Given the description of an element on the screen output the (x, y) to click on. 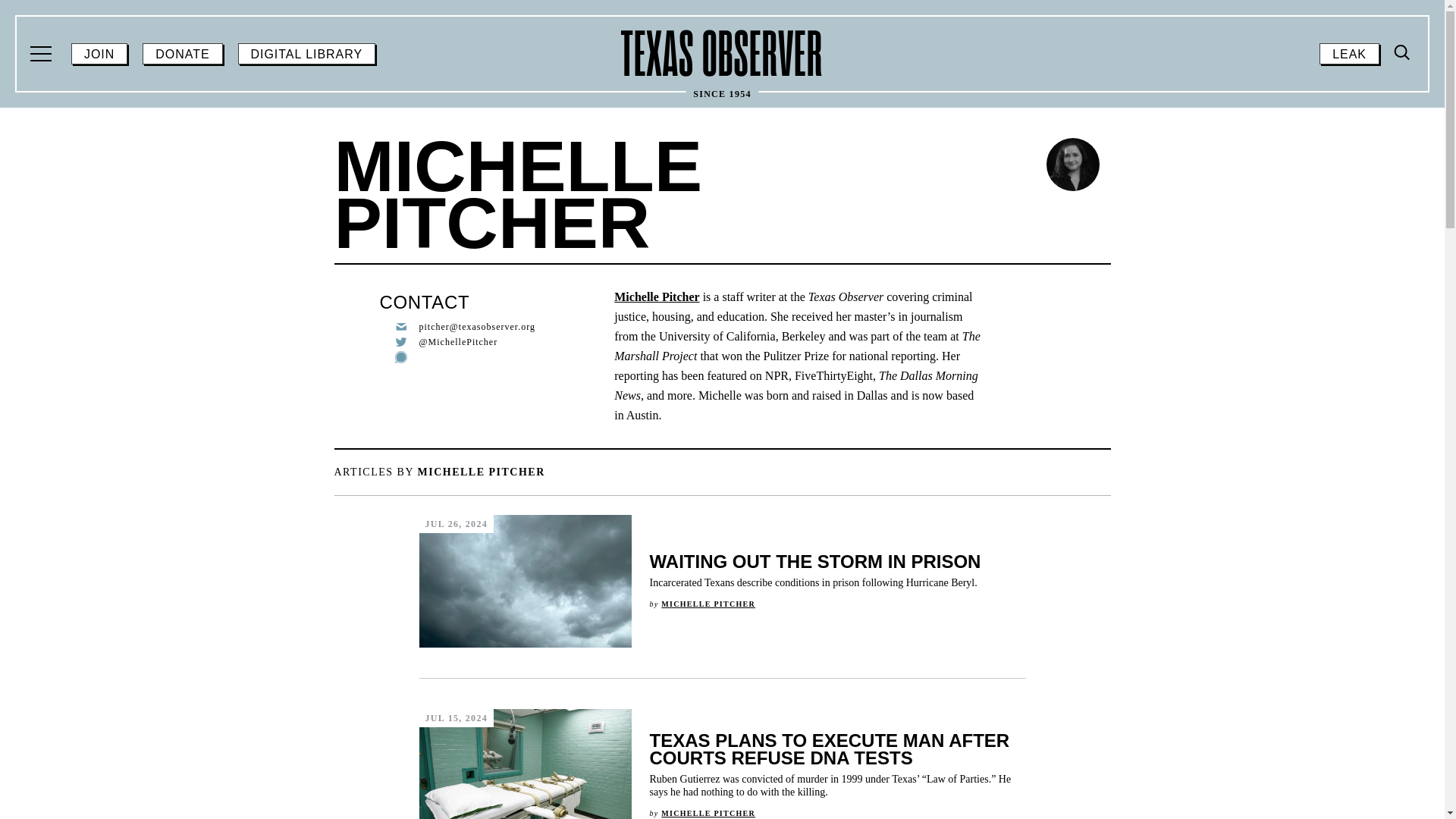
Post by Michelle Pitcher (708, 603)
The Texas Observer (1402, 53)
SEARCH (721, 53)
JOIN (1400, 179)
DONATE (99, 53)
DIGITAL LIBRARY (182, 53)
Toggle Menu (306, 53)
Post by Michelle Pitcher (42, 53)
Search icon (708, 813)
